Given the description of an element on the screen output the (x, y) to click on. 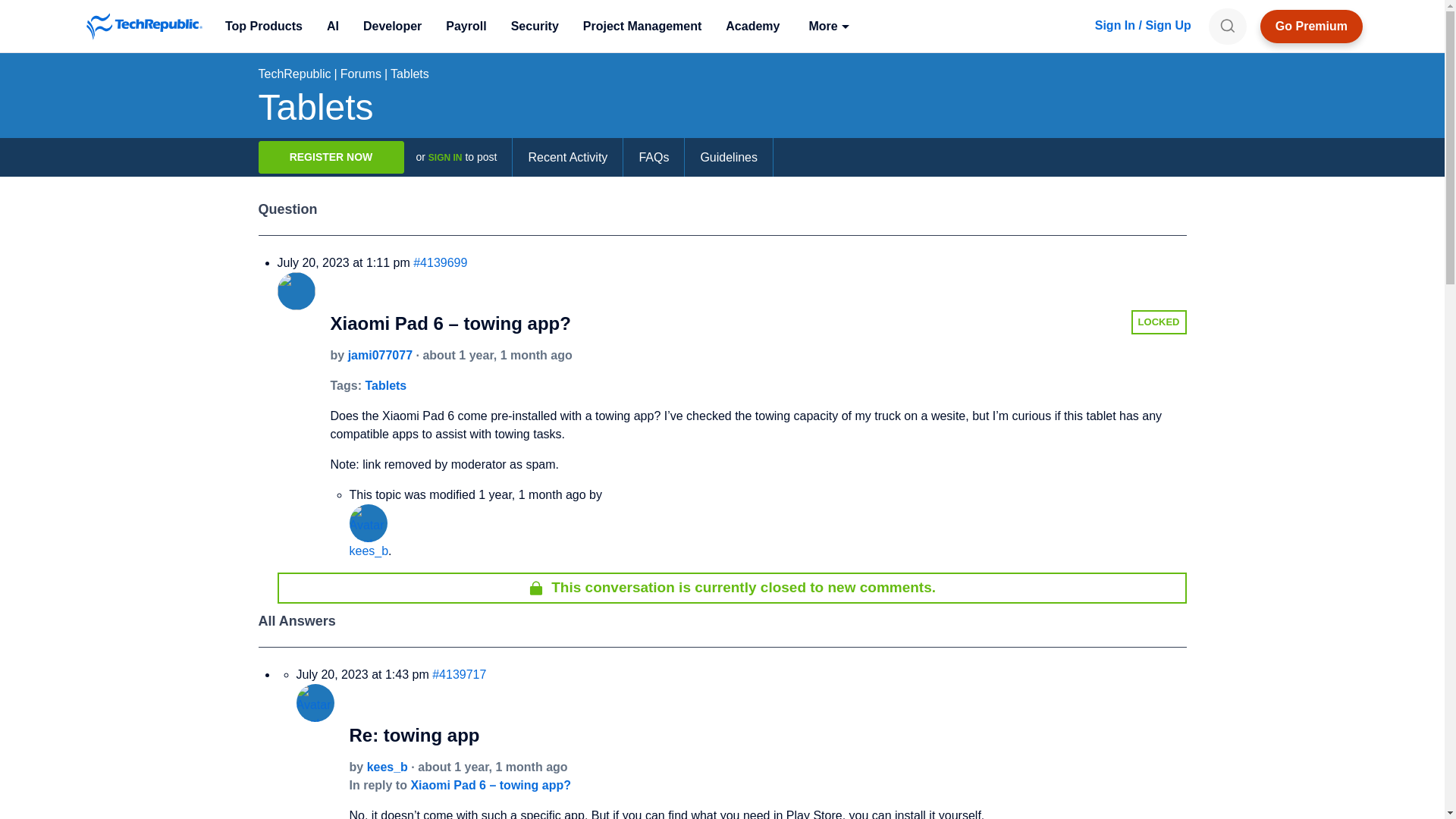
Academy (752, 26)
TechRepublic (143, 25)
Recent Activity (567, 157)
Payroll (465, 26)
TechRepublic Premium (1311, 25)
Topic is locked (535, 588)
Project Management (641, 26)
Forums (360, 73)
Security (534, 26)
FAQs (653, 157)
